Given the description of an element on the screen output the (x, y) to click on. 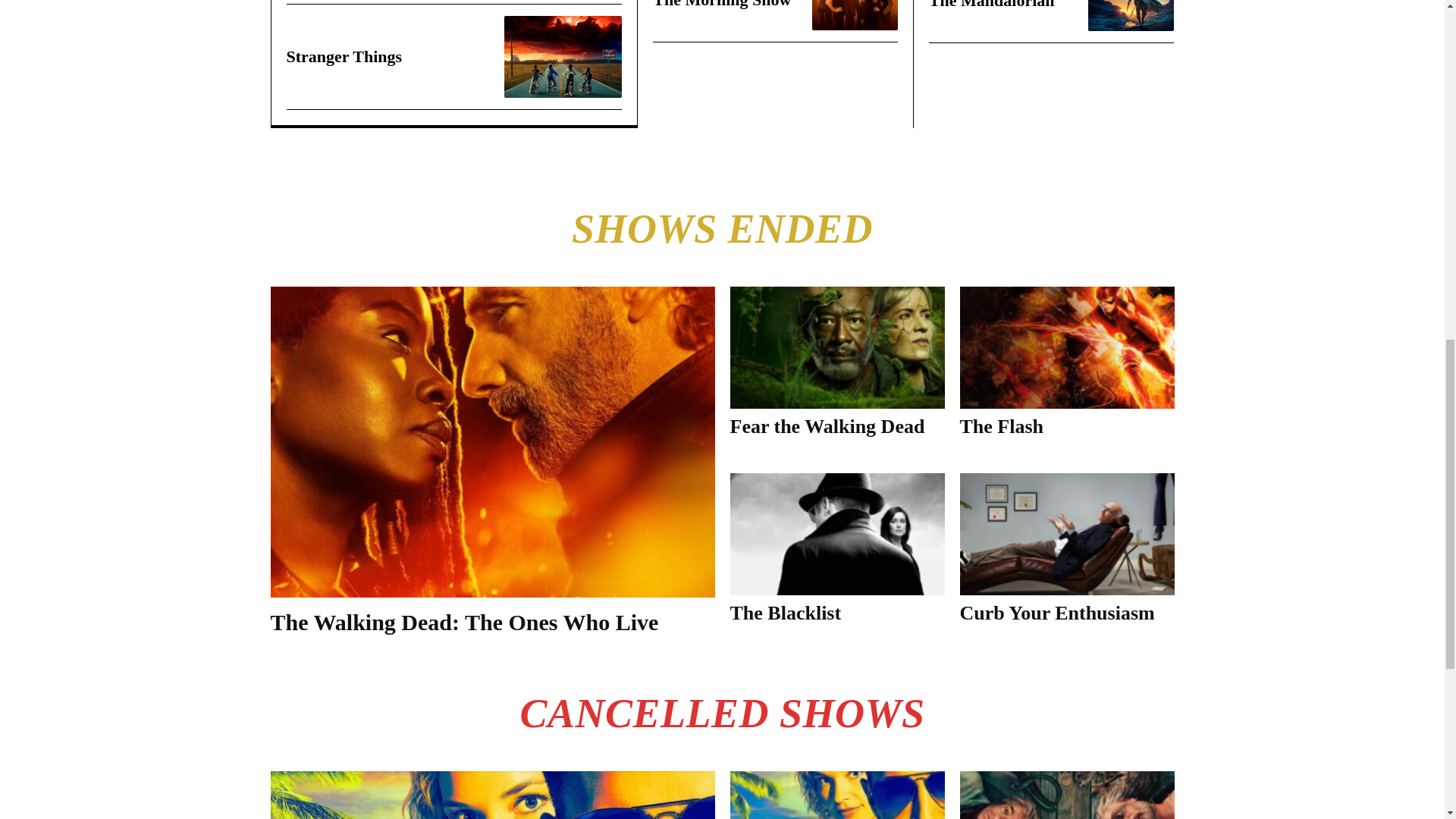
The Morning Show (721, 4)
Stranger Things (562, 56)
Stranger Things (344, 56)
Stranger Things (344, 56)
